Given the description of an element on the screen output the (x, y) to click on. 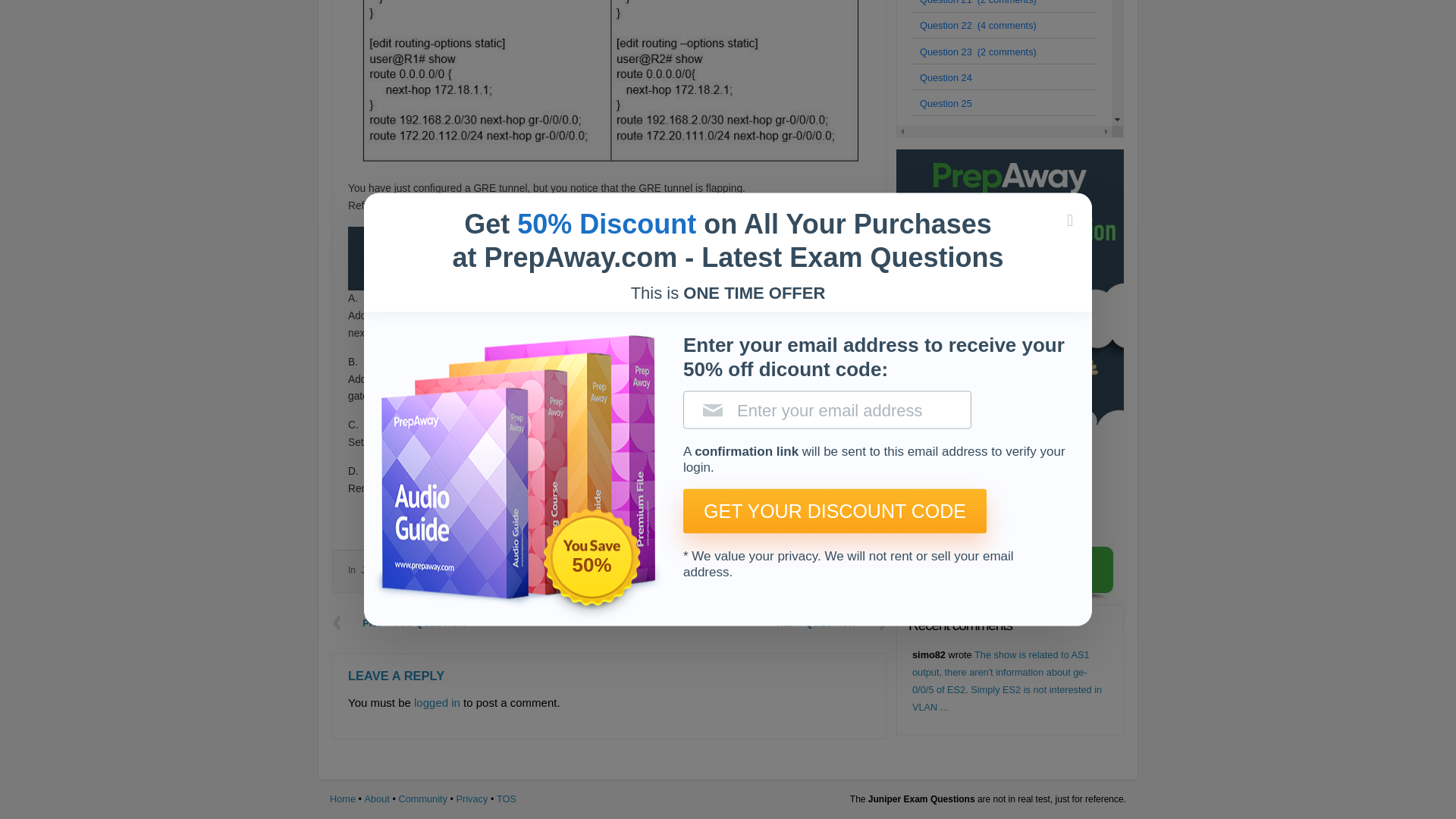
0 (830, 521)
